Given the description of an element on the screen output the (x, y) to click on. 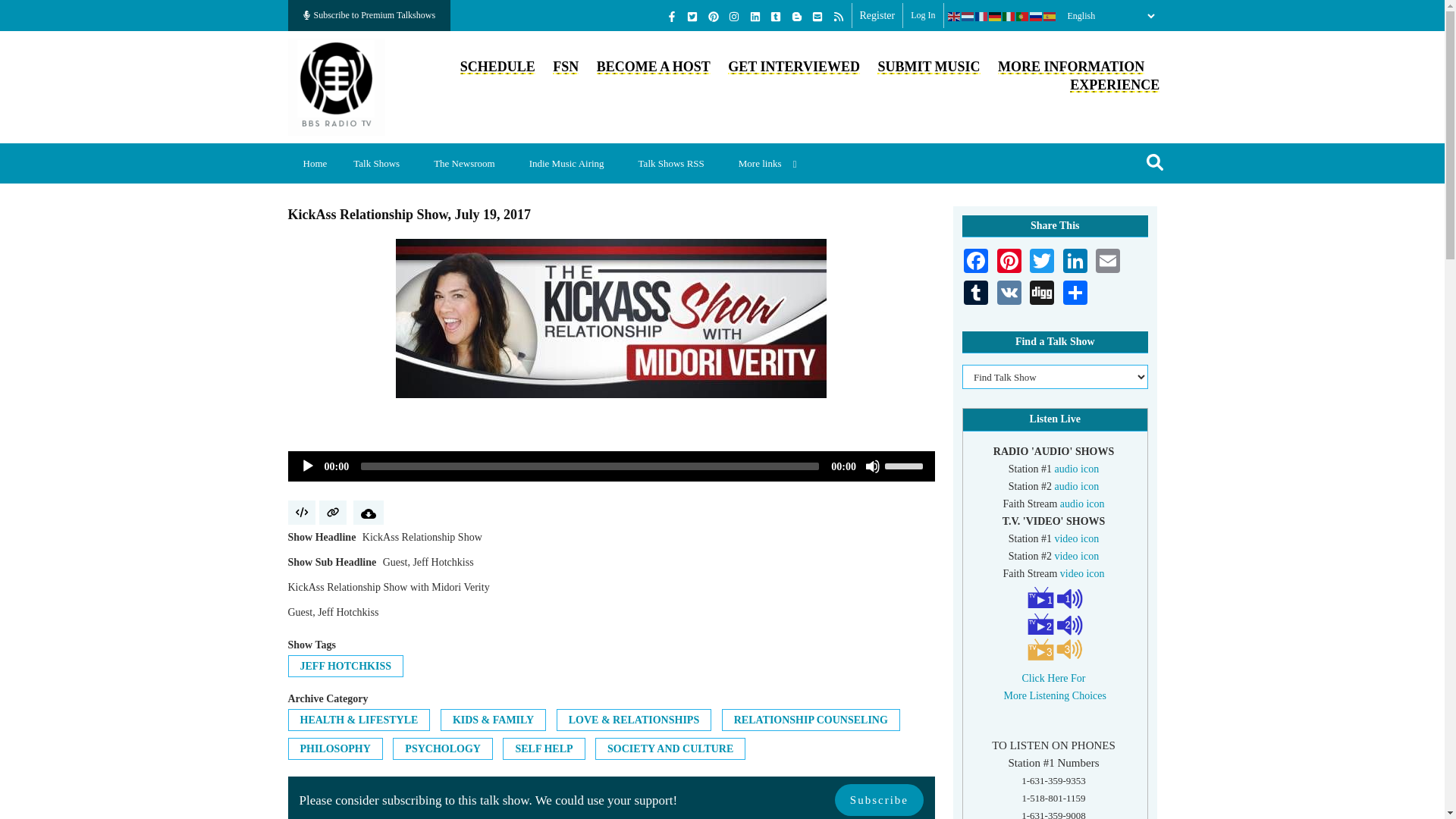
Copy audio embed code (301, 512)
EXPERIENCE (1114, 84)
Play (307, 466)
Faith Stream Network (565, 66)
MORE INFORMATION (1070, 66)
SCHEDULE (497, 66)
The Kickass Relationship Show with Midori Verity (611, 318)
English (953, 15)
Register (877, 15)
GET INTERVIEWED (794, 66)
Log In (922, 14)
Italiano (1009, 15)
Copy audio url to listen (332, 512)
Home (315, 163)
